Given the description of an element on the screen output the (x, y) to click on. 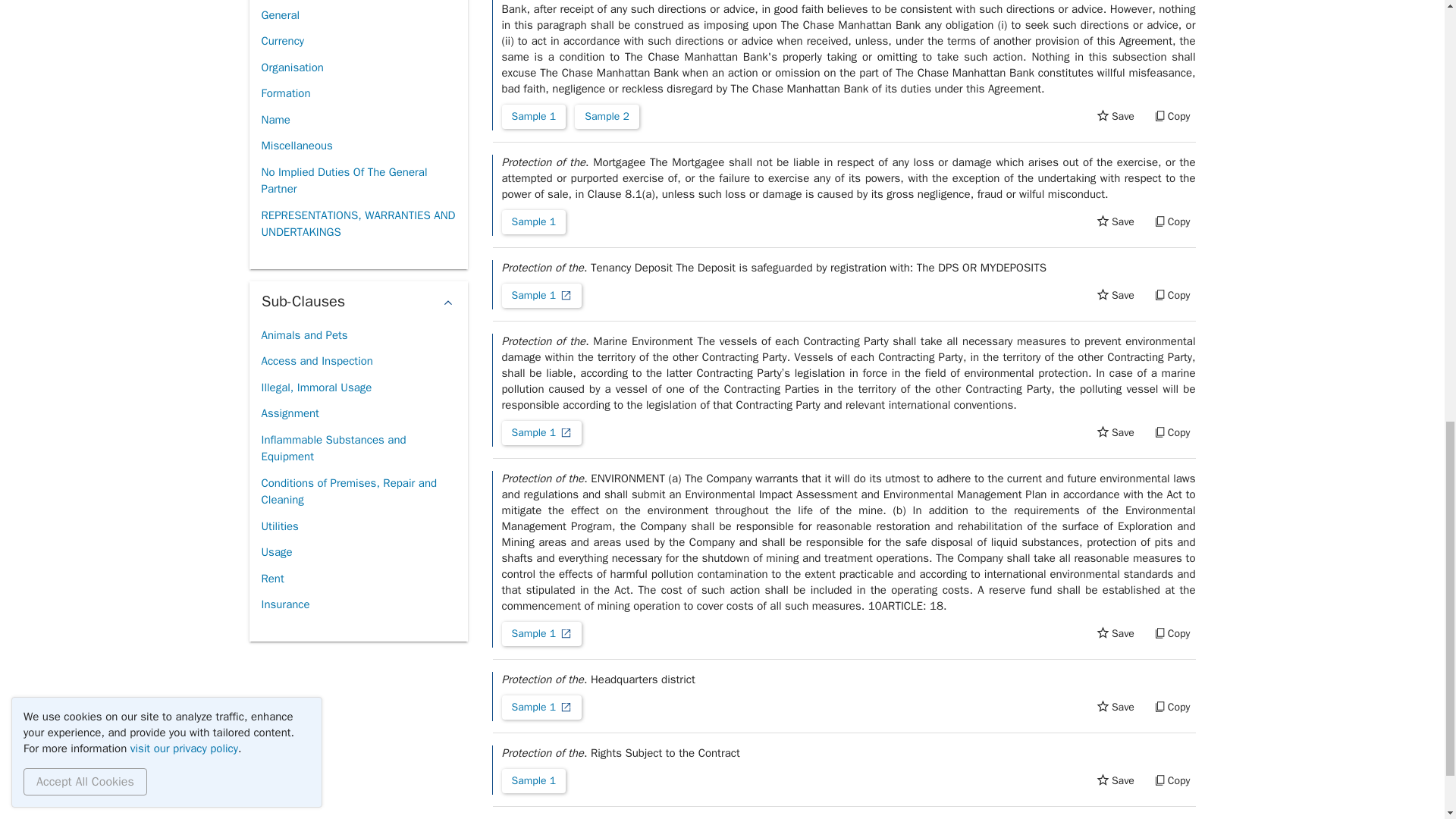
Currency (282, 40)
Organisation (291, 67)
Name (274, 120)
General (279, 15)
Services (281, 1)
Formation (285, 93)
